Given the description of an element on the screen output the (x, y) to click on. 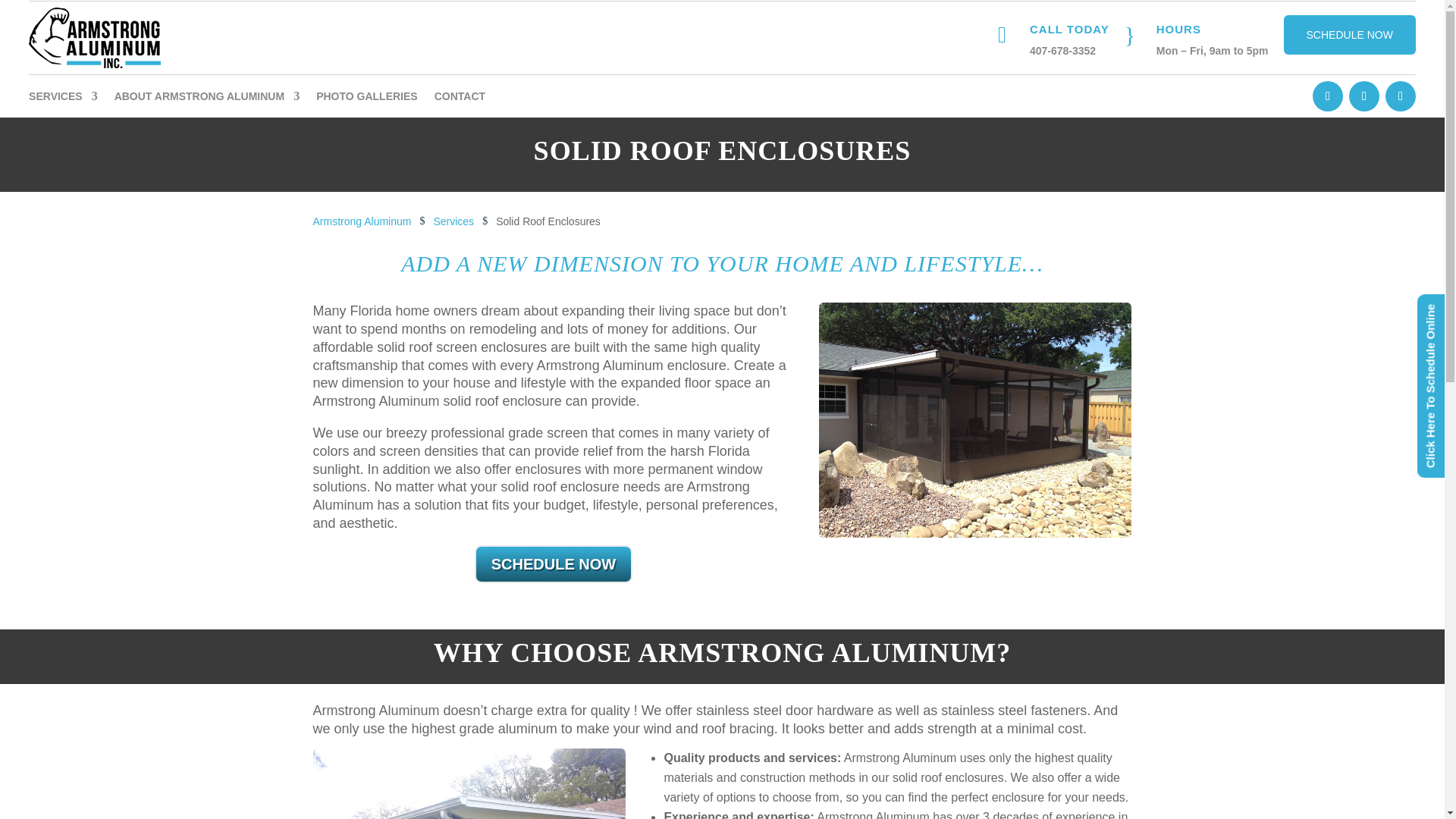
Services (453, 220)
SCREEN PATIO INSULATEN ROOF 16'' KICKPLATE (975, 419)
ABOUT ARMSTRONG ALUMINUM (207, 98)
CONTACT (458, 98)
SCHEDULE NOW (1349, 35)
Follow on Instagram (1363, 96)
Follow on Facebook (1327, 96)
SERVICES (63, 98)
Follow on Youtube (1400, 96)
PHOTO GALLERIES (366, 98)
SCHEDULE NOW (552, 564)
Armstrong Aluminum (361, 220)
SCREEN ON BLOCK WALL PRIME DOOR (469, 783)
